Given the description of an element on the screen output the (x, y) to click on. 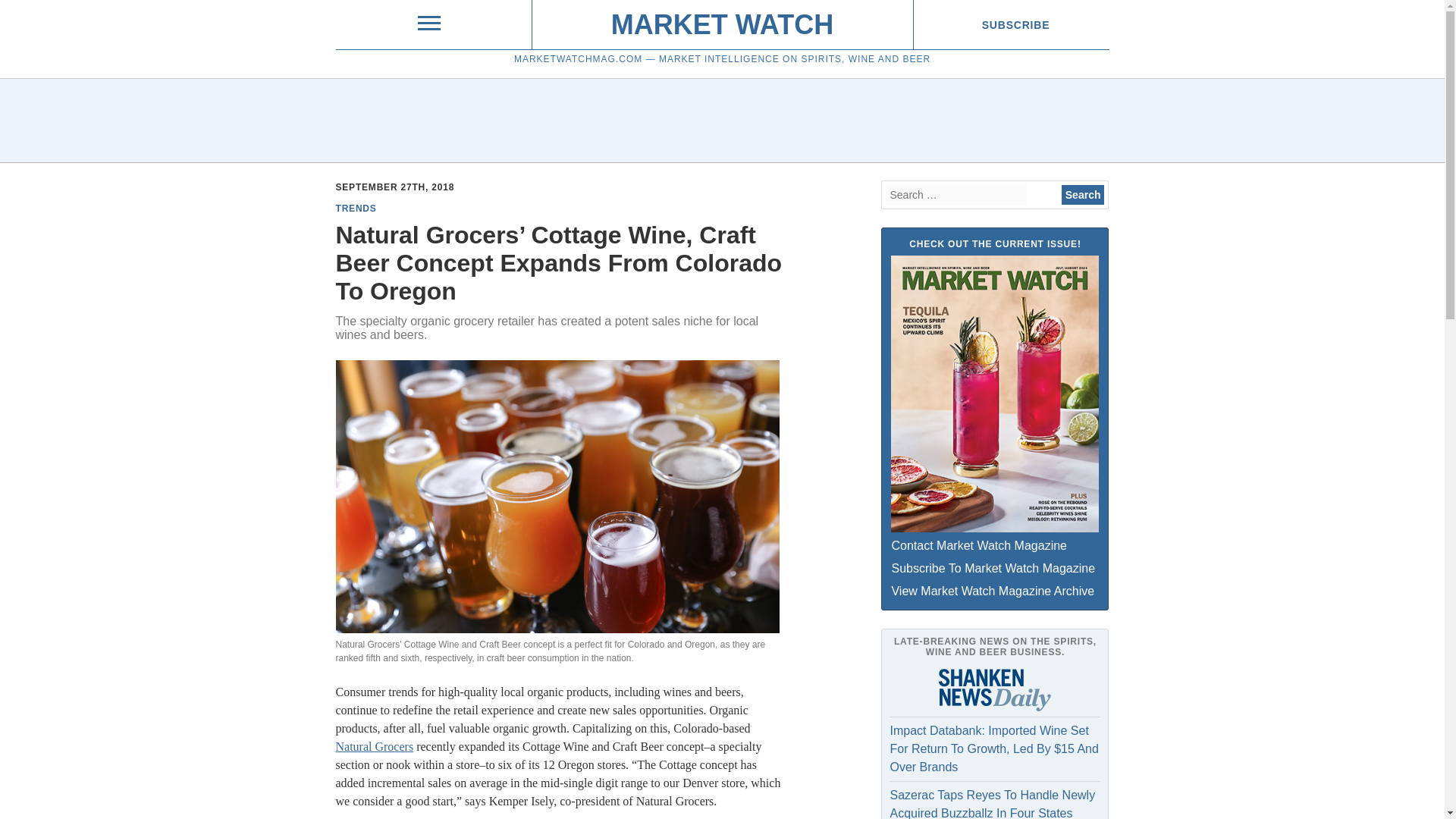
MARKET WATCH (721, 24)
Natural Grocers (373, 746)
SUBSCRIBE (1014, 24)
Search (1083, 194)
Search (1083, 194)
TRENDS (354, 208)
3rd party ad content (721, 120)
